Given the description of an element on the screen output the (x, y) to click on. 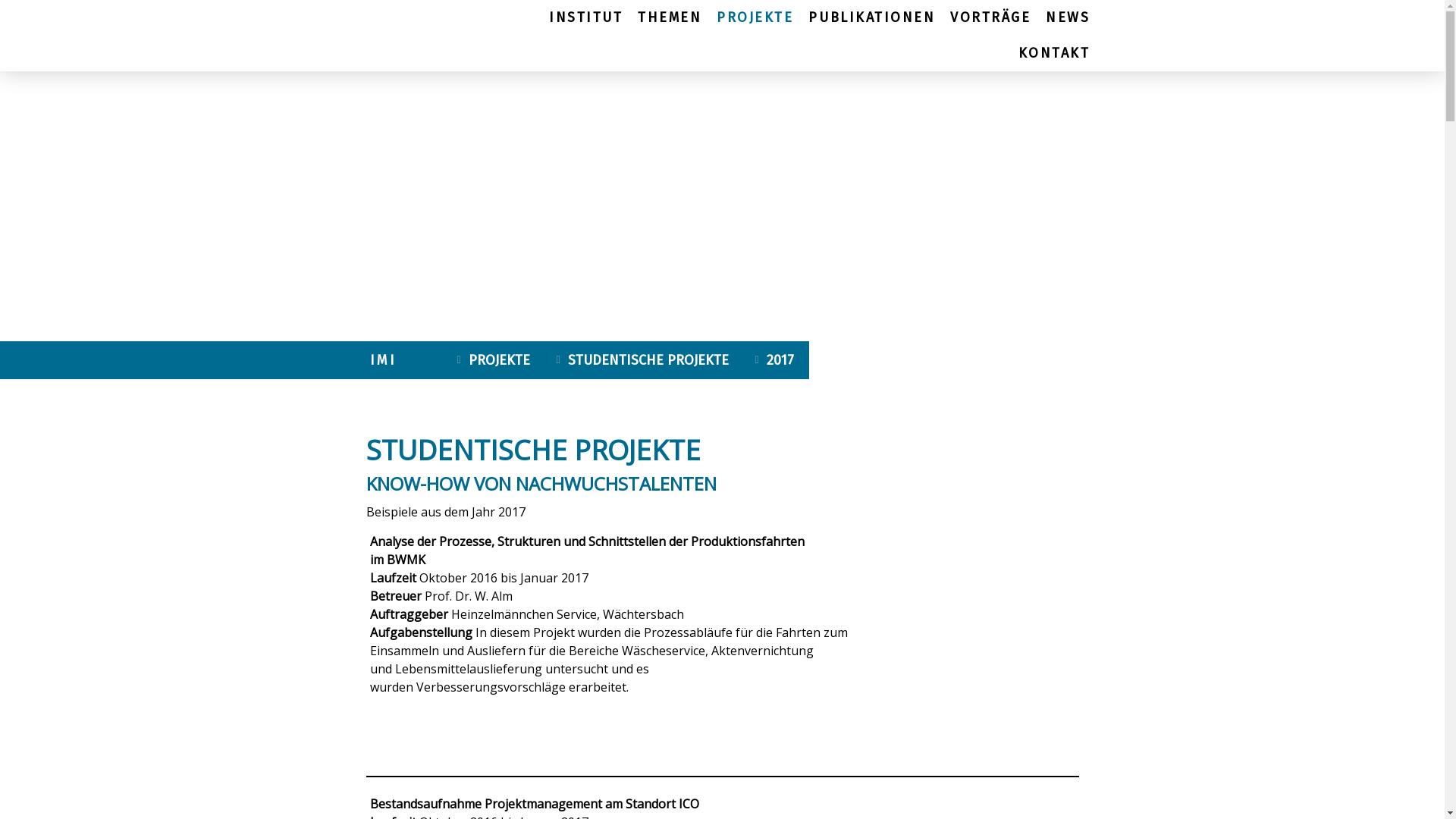
INSTITUT Element type: text (585, 17)
2017 Element type: text (775, 360)
PUBLIKATIONEN Element type: text (871, 17)
PROJEKTE Element type: text (495, 360)
NEWS Element type: text (1067, 17)
THEMEN Element type: text (669, 17)
KONTAKT Element type: text (1054, 53)
STUDENTISCHE PROJEKTE Element type: text (643, 360)
PROJEKTE Element type: text (754, 17)
IMI Element type: text (404, 360)
